Given the description of an element on the screen output the (x, y) to click on. 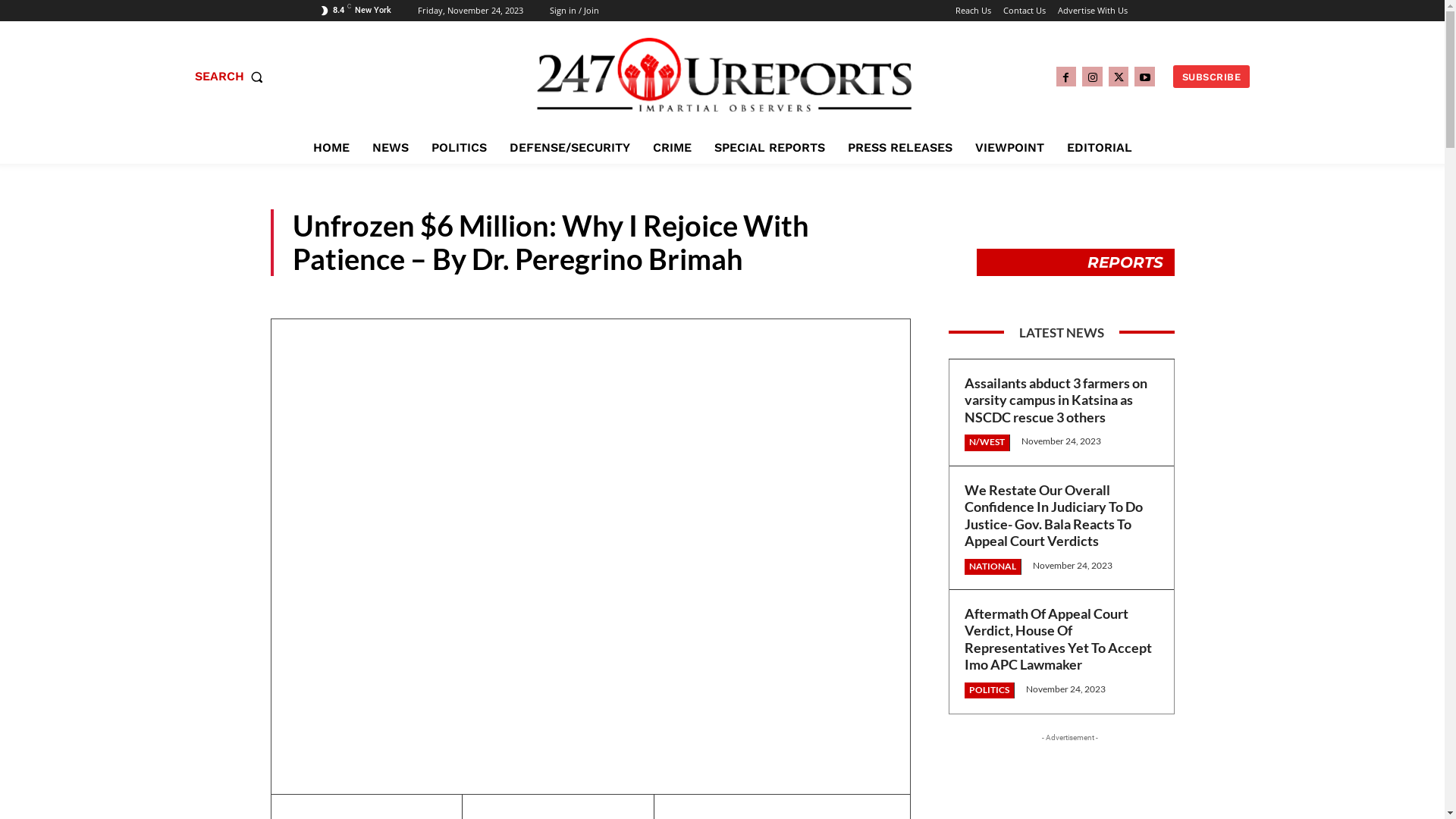
SUBSCRIBE Element type: text (1211, 76)
NEWS Element type: text (389, 147)
Advertise With Us Element type: text (1091, 10)
NATIONAL Element type: text (992, 566)
Twitter Element type: hover (1118, 76)
VIEWPOINT Element type: text (1009, 147)
HOME Element type: text (330, 147)
Instagram Element type: hover (1092, 76)
SEARCH Element type: text (231, 76)
CRIME Element type: text (671, 147)
Contact Us Element type: text (1023, 10)
Impartial Observers Element type: hover (723, 74)
POLITICS Element type: text (458, 147)
PRESS RELEASES Element type: text (900, 147)
DEFENSE/SECURITY Element type: text (569, 147)
Sign in / Join Element type: text (573, 10)
POLITICS Element type: text (989, 690)
EDITORIAL Element type: text (1098, 147)
REPORTS Element type: text (1125, 262)
Facebook Element type: hover (1066, 76)
Youtube Element type: hover (1144, 76)
N/WEST Element type: text (987, 442)
SPECIAL REPORTS Element type: text (769, 147)
Reach Us Element type: text (973, 10)
